Given the description of an element on the screen output the (x, y) to click on. 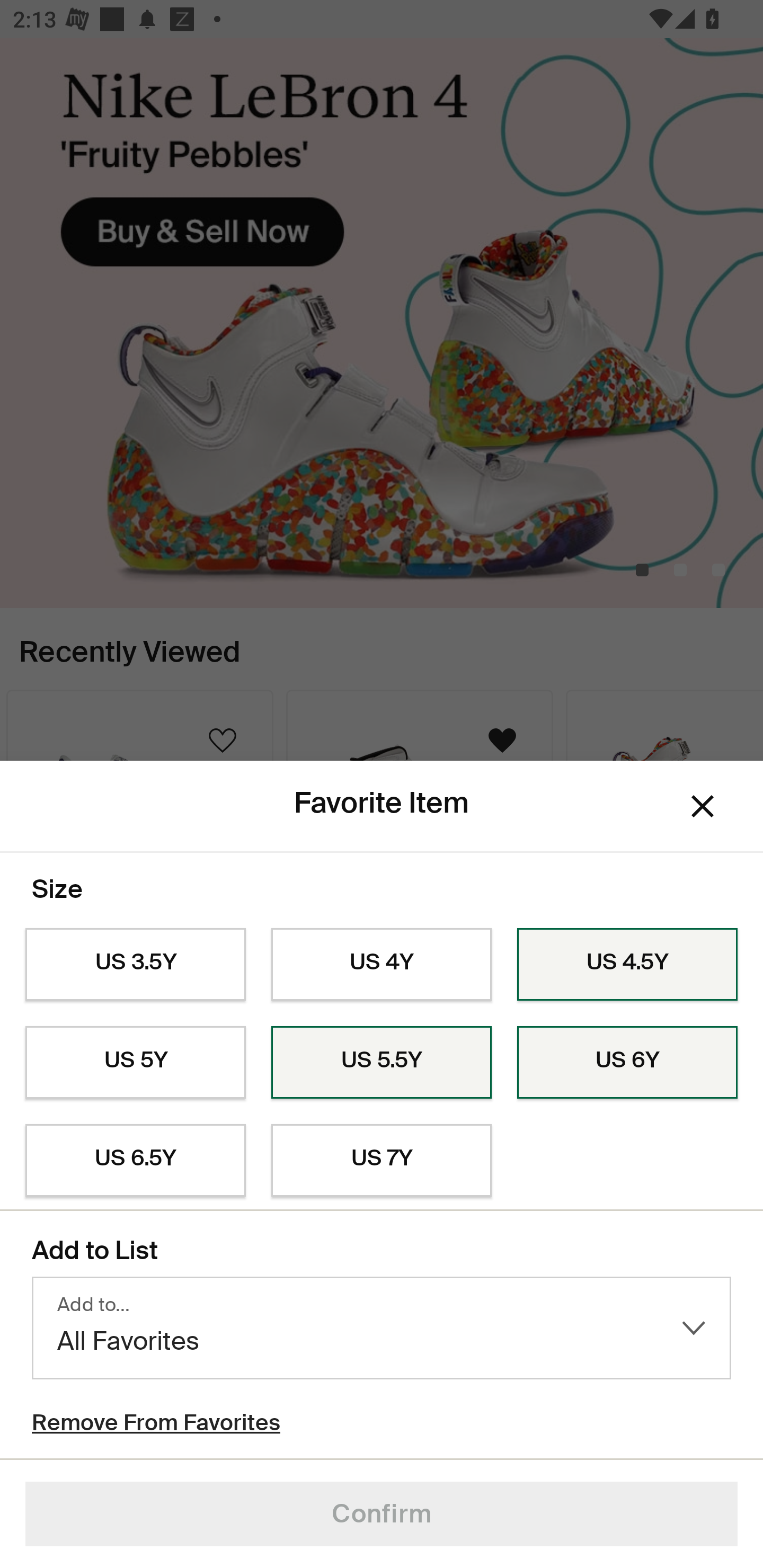
Dismiss (702, 806)
US 3.5Y (135, 964)
US 4Y (381, 964)
US 4.5Y (627, 964)
US 5Y (135, 1061)
US 5.5Y (381, 1061)
US 6Y (627, 1061)
US 6.5Y (135, 1160)
US 7Y (381, 1160)
Add to… All Favorites (381, 1327)
Remove From Favorites (156, 1424)
Confirm (381, 1513)
